Given the description of an element on the screen output the (x, y) to click on. 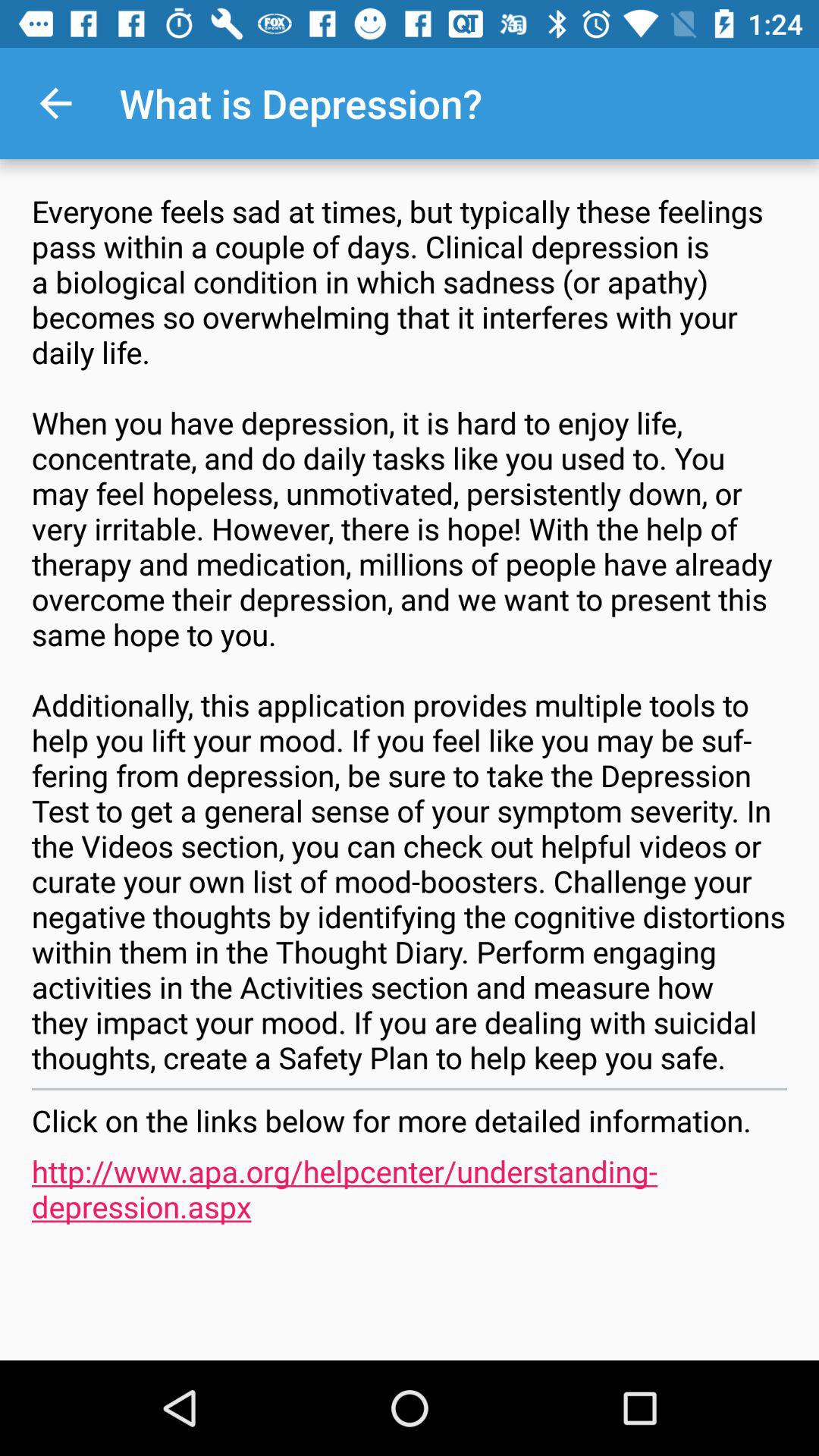
launch icon below click on the app (409, 1188)
